Given the description of an element on the screen output the (x, y) to click on. 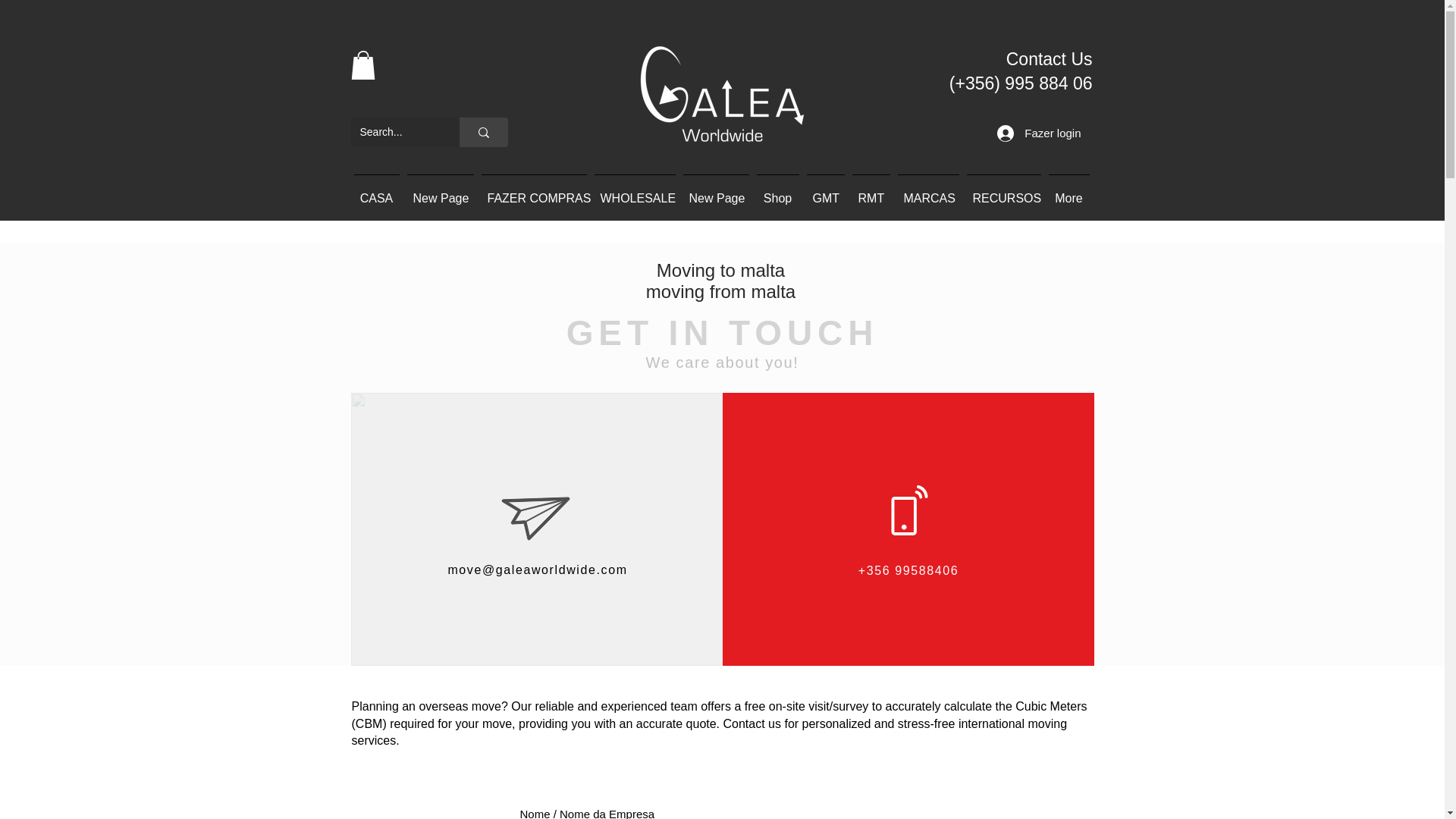
GMT (824, 191)
New Page (715, 191)
Fazer login (1038, 133)
RECURSOS (1003, 191)
RMT (870, 191)
New Page (440, 191)
CASA (376, 191)
Shop (777, 191)
MARCAS (927, 191)
WHOLESALE (633, 191)
